Given the description of an element on the screen output the (x, y) to click on. 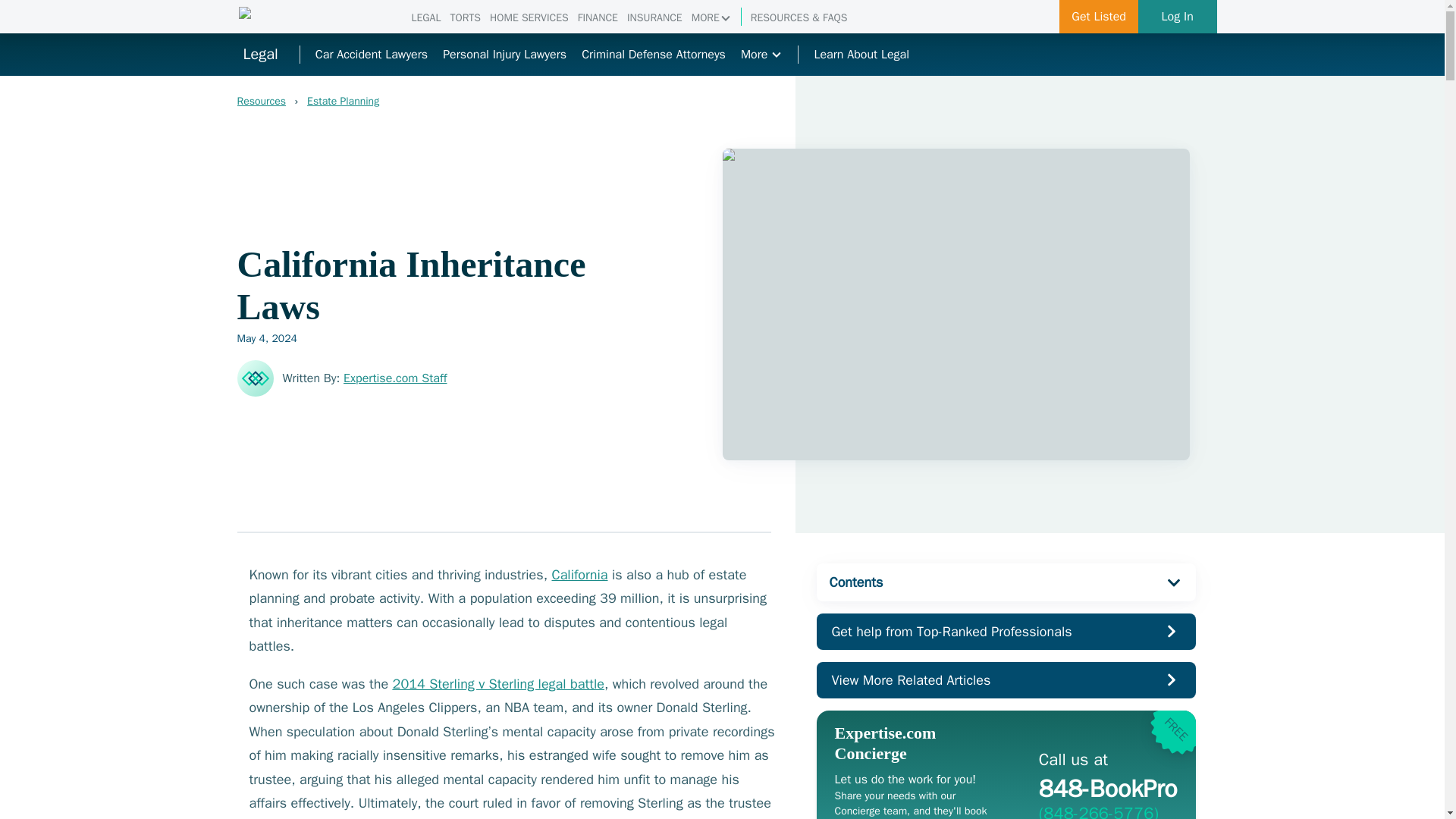
Personal Injury Lawyers (504, 54)
INSURANCE (654, 17)
More (762, 54)
Car Accident Lawyers (371, 54)
Legal (259, 53)
Log In (1177, 16)
FINANCE (597, 17)
LEGAL (425, 17)
Criminal Defense Attorneys (478, 101)
MORE (652, 54)
Get Listed (711, 17)
TORTS (1098, 16)
HOME SERVICES (464, 17)
